Given the description of an element on the screen output the (x, y) to click on. 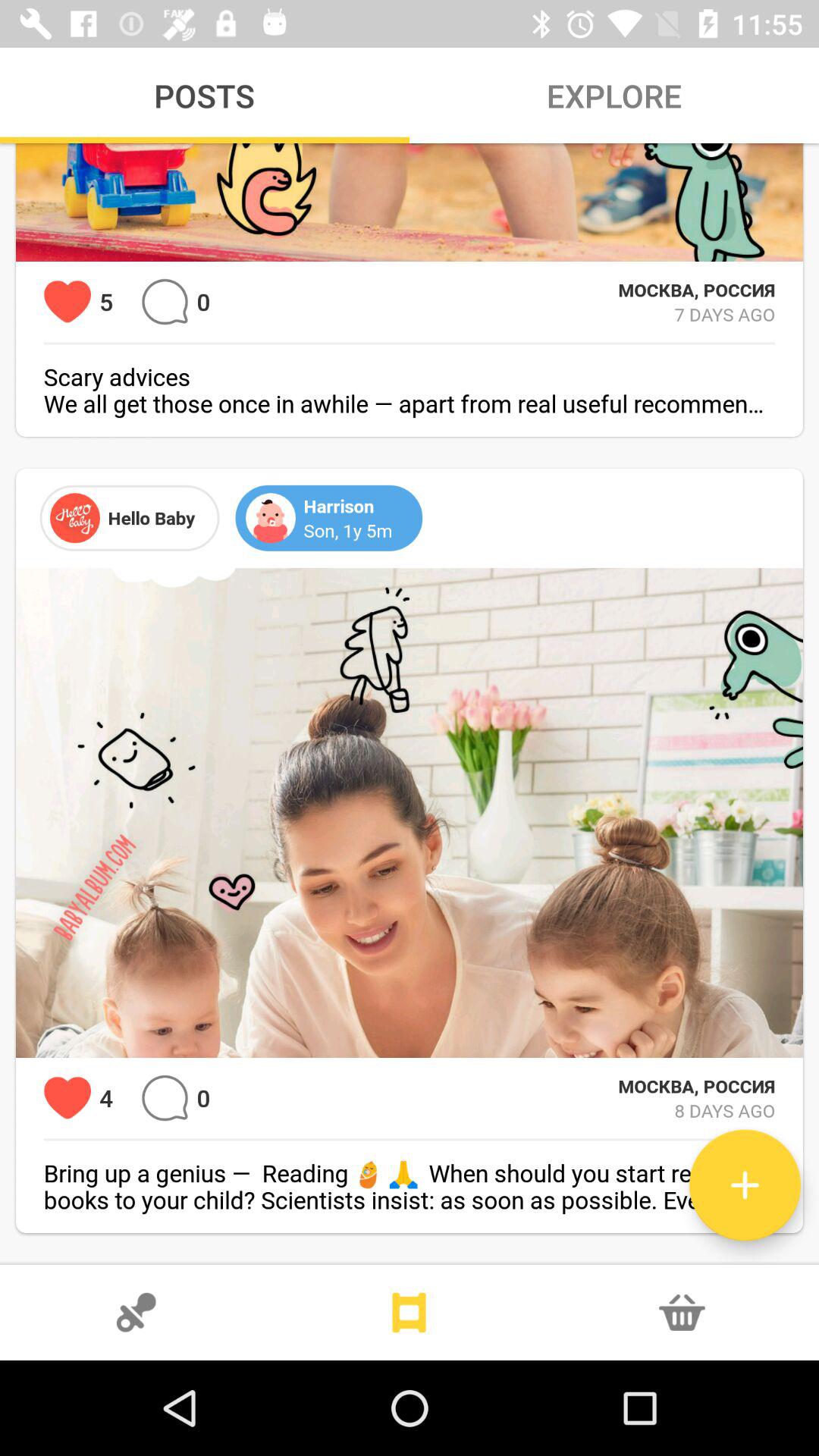
like post (67, 301)
